Given the description of an element on the screen output the (x, y) to click on. 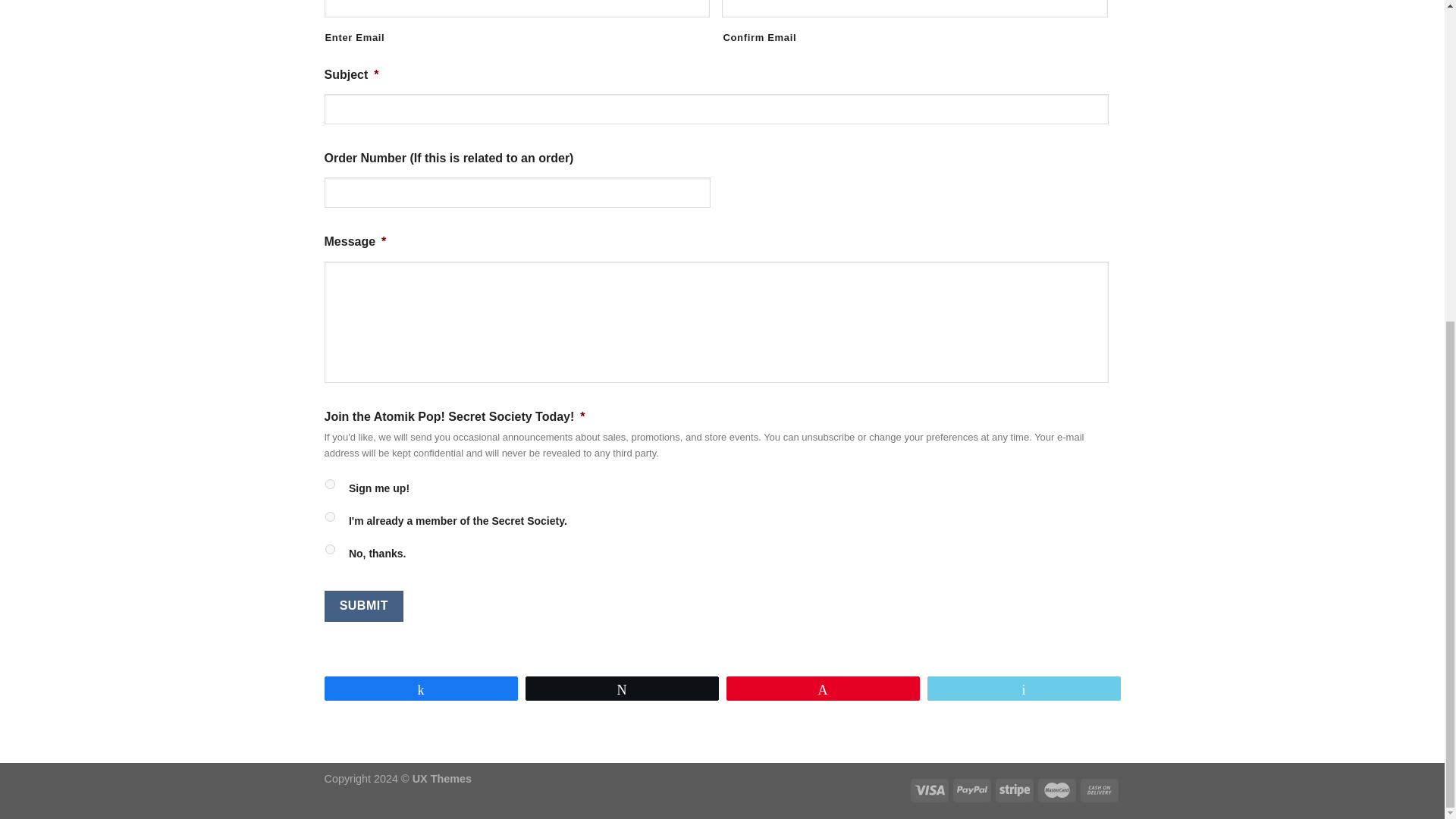
I'm already a member of the Secret Society. (329, 516)
No, thanks. (329, 549)
Sign me up! (329, 483)
Submit (364, 605)
